Given the description of an element on the screen output the (x, y) to click on. 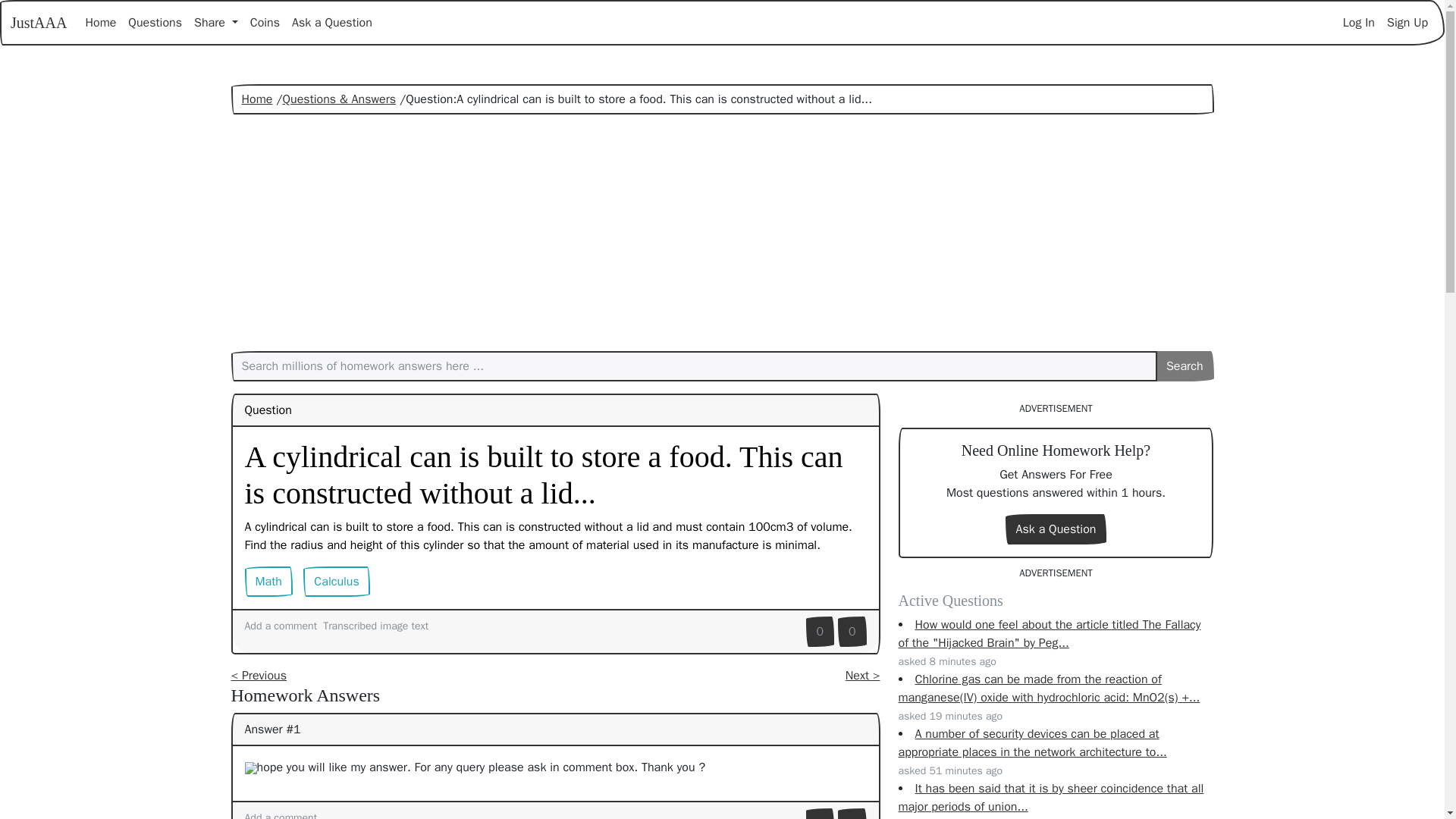
This is unclear or not useful (852, 813)
Home (256, 99)
Math (268, 581)
0 (820, 631)
Calculus (335, 581)
Add a comment (280, 625)
Share (215, 22)
Sign Up (1407, 22)
This is not useful (852, 631)
0 (852, 631)
JustAAA (38, 22)
This is useful (820, 631)
0 (852, 813)
0 (820, 813)
